Given the description of an element on the screen output the (x, y) to click on. 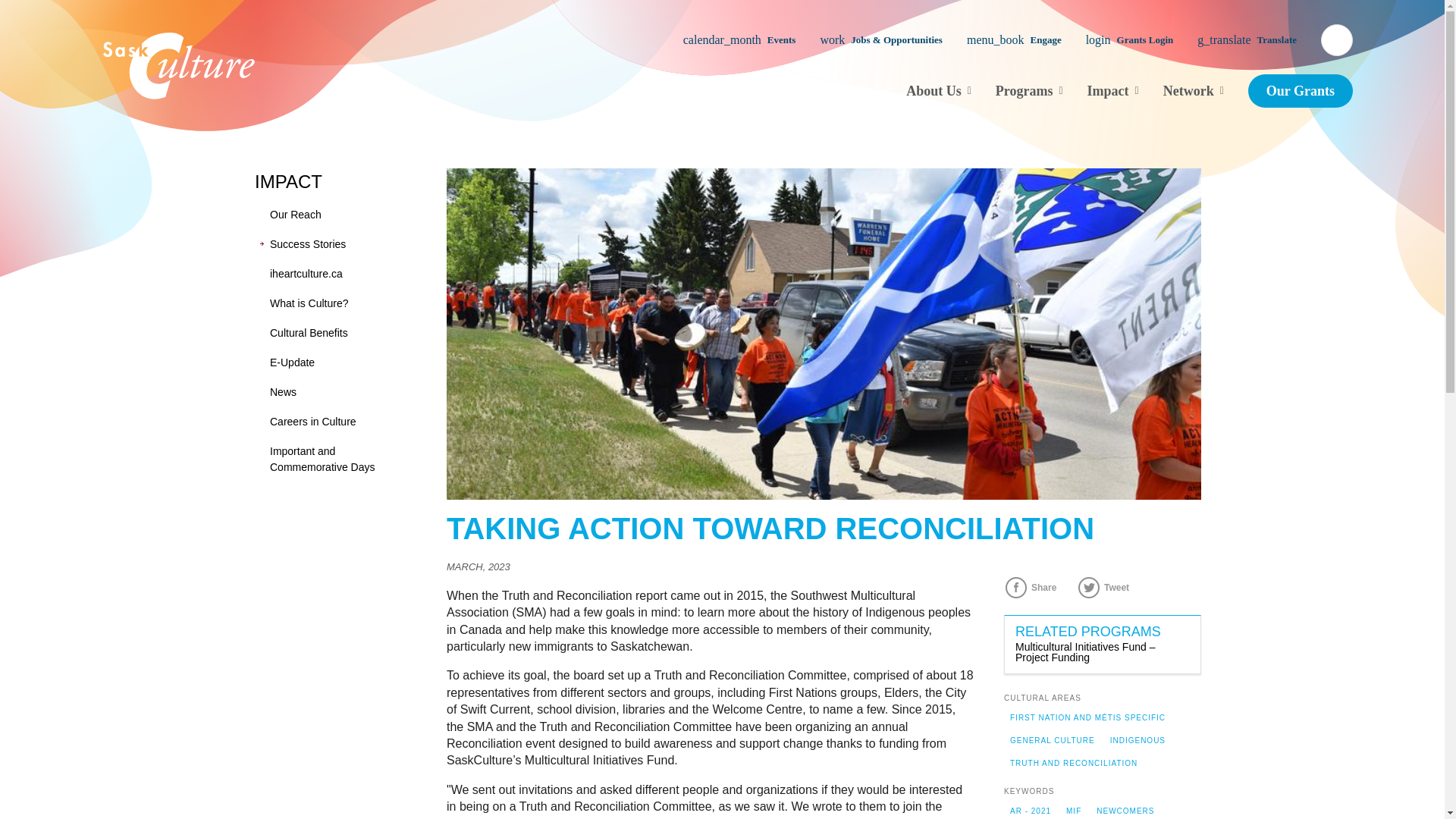
Programs (1028, 90)
About Us (938, 90)
SaskCulture (178, 65)
Impact (1112, 90)
